Given the description of an element on the screen output the (x, y) to click on. 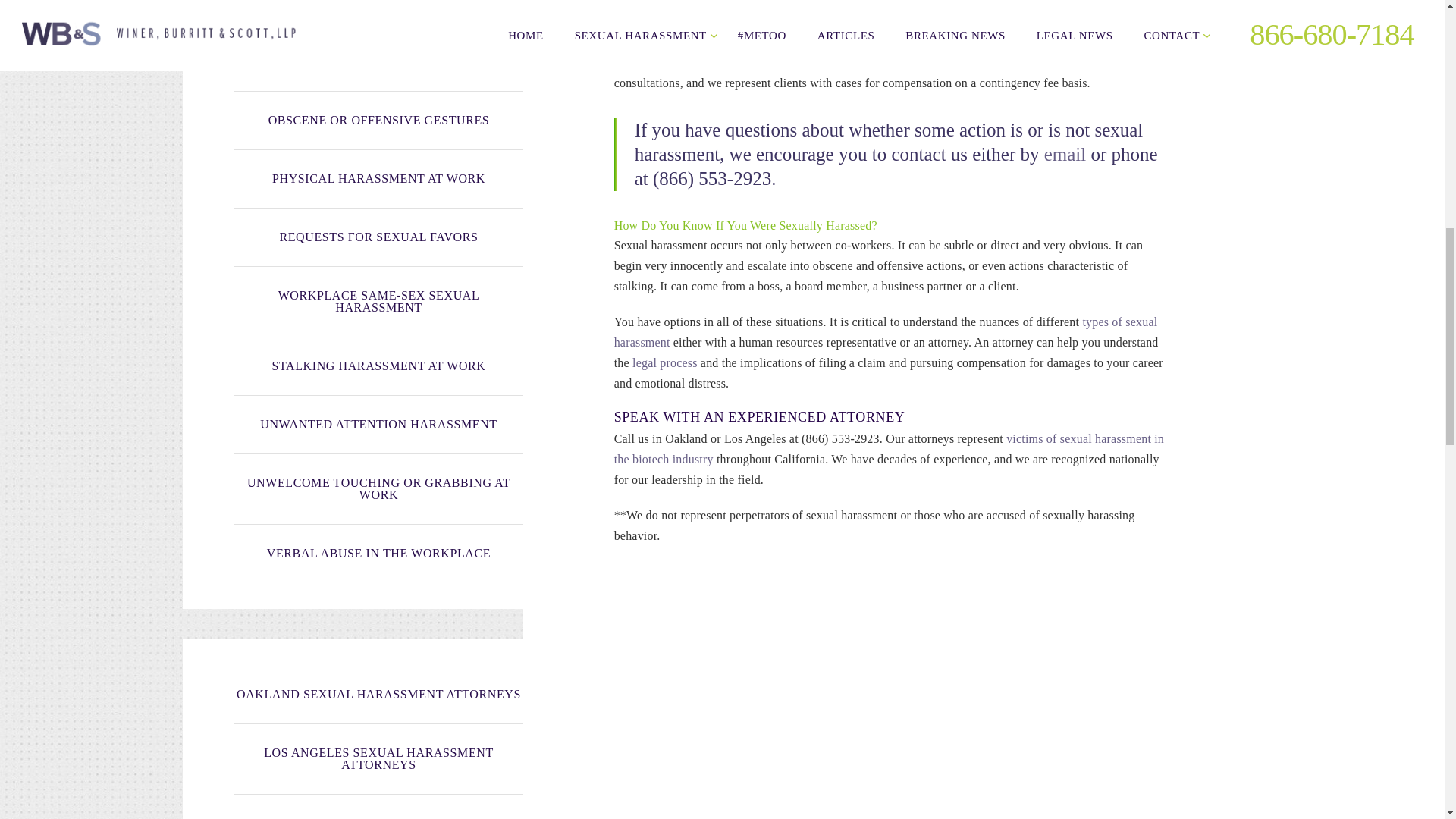
email (1064, 154)
victims of sexual harassment in the biotech industry (888, 449)
OBSCENE OR OFFENSIVE GESTURES (378, 120)
types of sexual harassment (885, 331)
PHYSICAL HARASSMENT AT WORK (378, 178)
WORKPLACE SAME-SEX SEXUAL HARASSMENT (378, 301)
legal process (664, 362)
HOSTILE WORK ENVIRONMENT (378, 10)
REQUESTS FOR SEXUAL FAVORS (378, 237)
MANAGER TO EMPLOYEE SEXUAL HARASSMENT (378, 56)
